Given the description of an element on the screen output the (x, y) to click on. 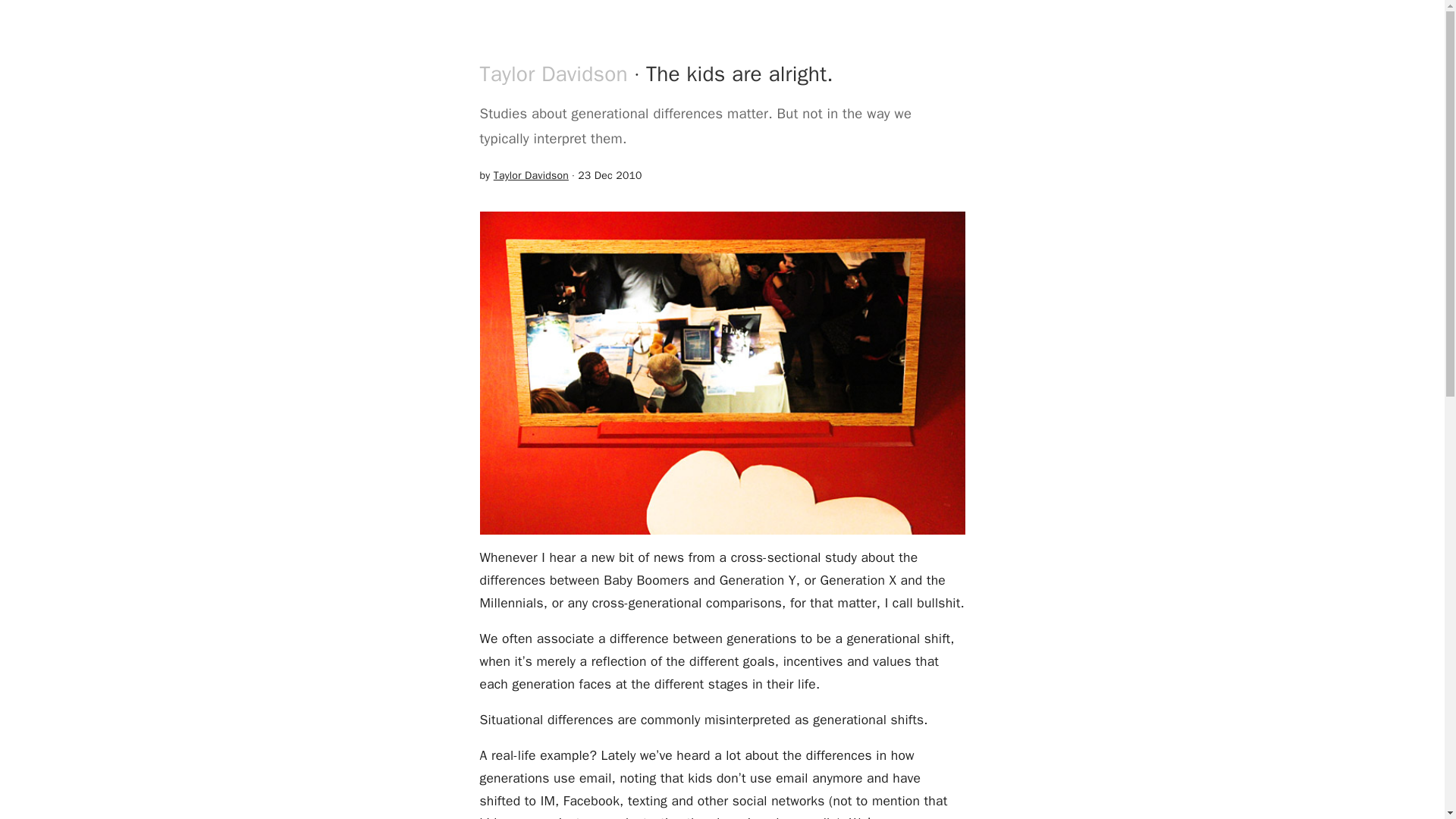
Taylor Davidson (553, 73)
Taylor Davidson (531, 174)
